Given the description of an element on the screen output the (x, y) to click on. 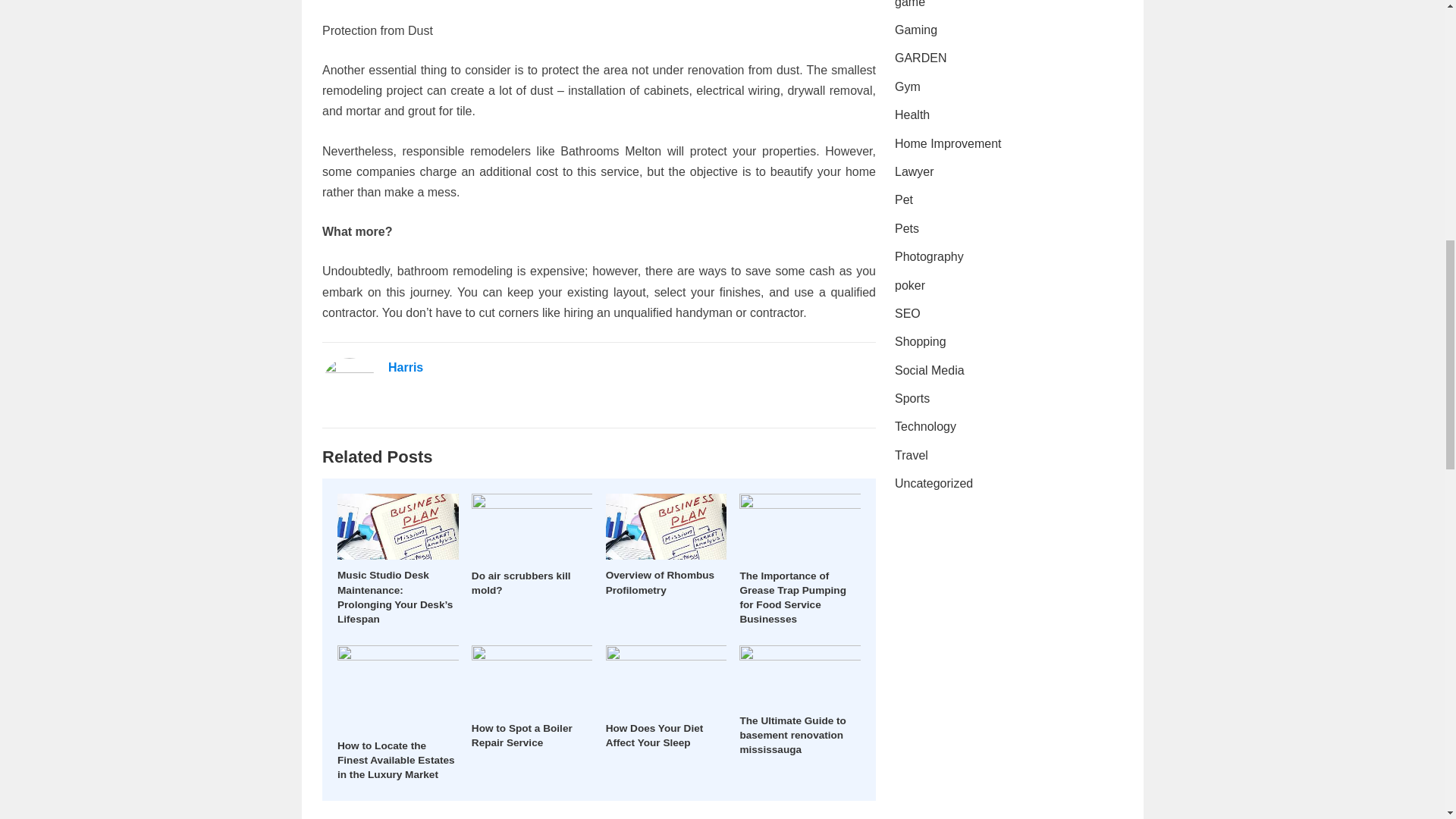
How Does Your Diet Affect Your Sleep (654, 735)
Harris (405, 367)
Overview of Rhombus Profilometry (659, 582)
How to Spot a Boiler Repair Service (521, 735)
Do air scrubbers kill mold? (520, 583)
